Given the description of an element on the screen output the (x, y) to click on. 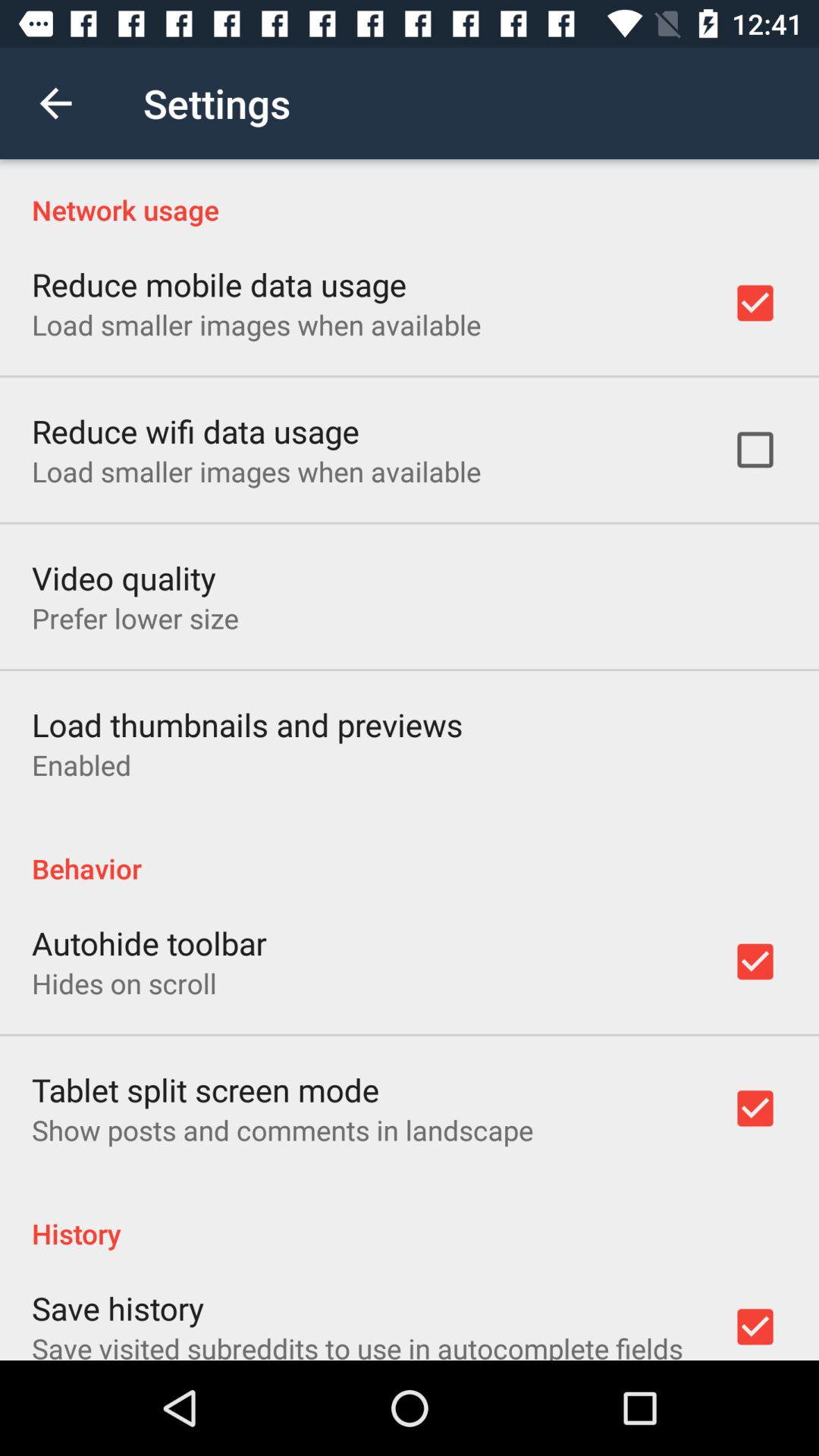
launch the show posts and icon (282, 1129)
